Given the description of an element on the screen output the (x, y) to click on. 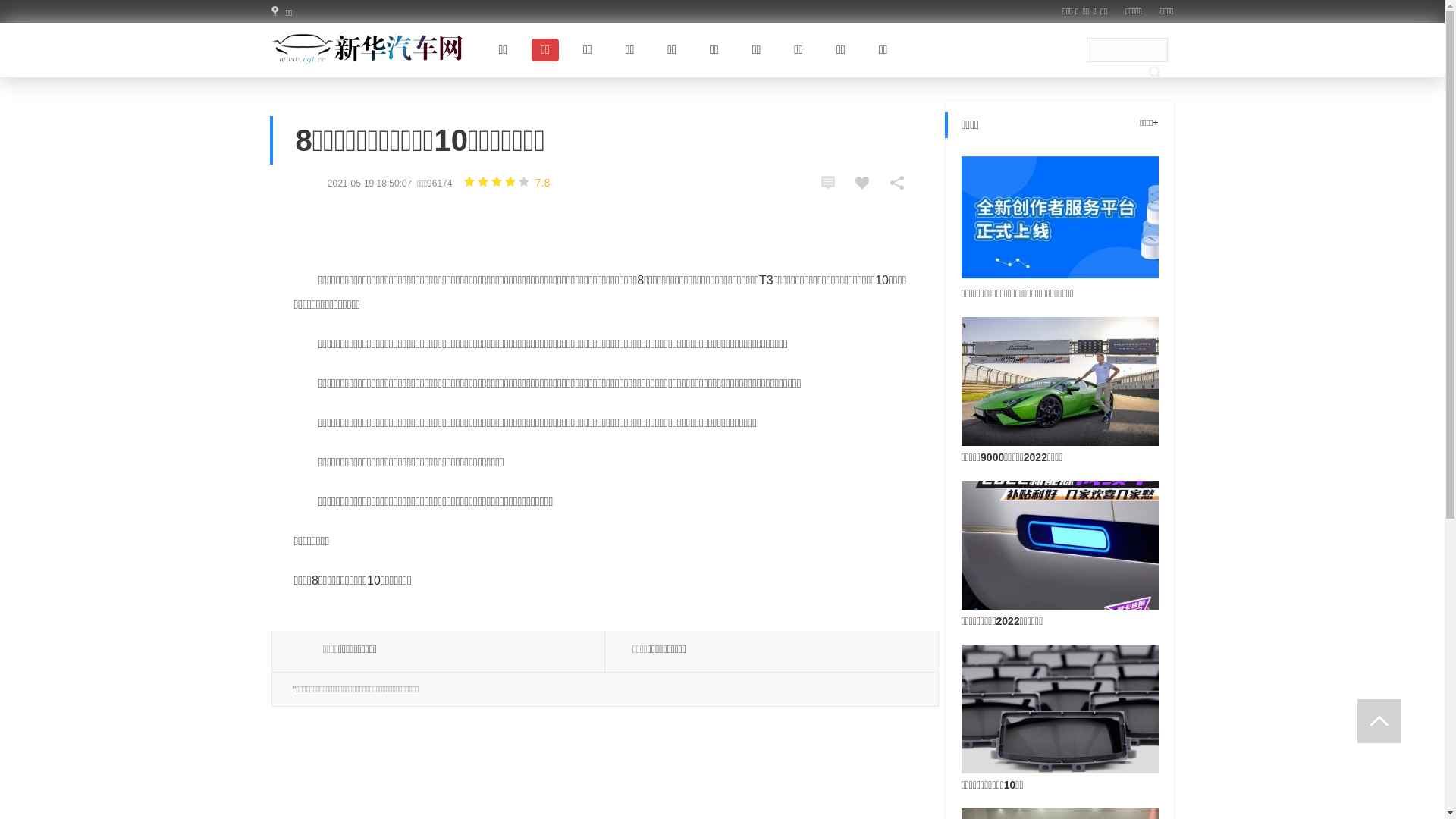
  Element type: text (1379, 721)
